Given the description of an element on the screen output the (x, y) to click on. 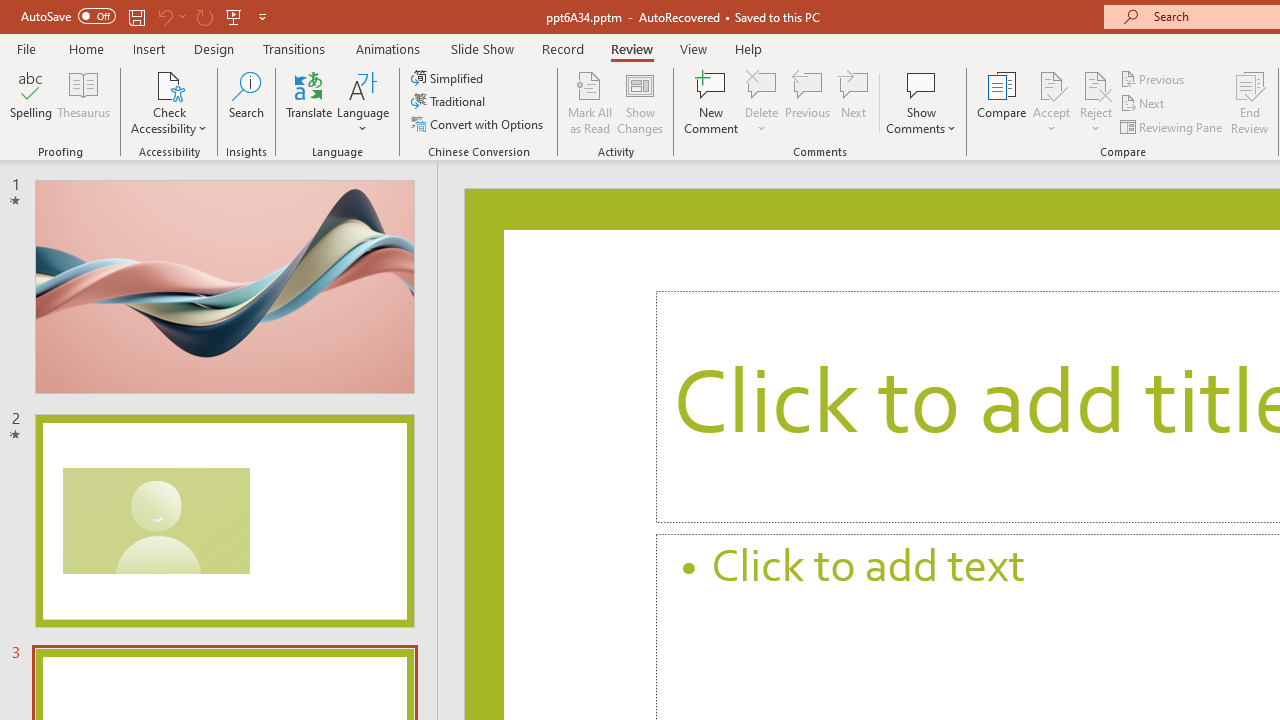
Reviewing Pane (1172, 126)
Accept (1051, 102)
Simplified (449, 78)
